Given the description of an element on the screen output the (x, y) to click on. 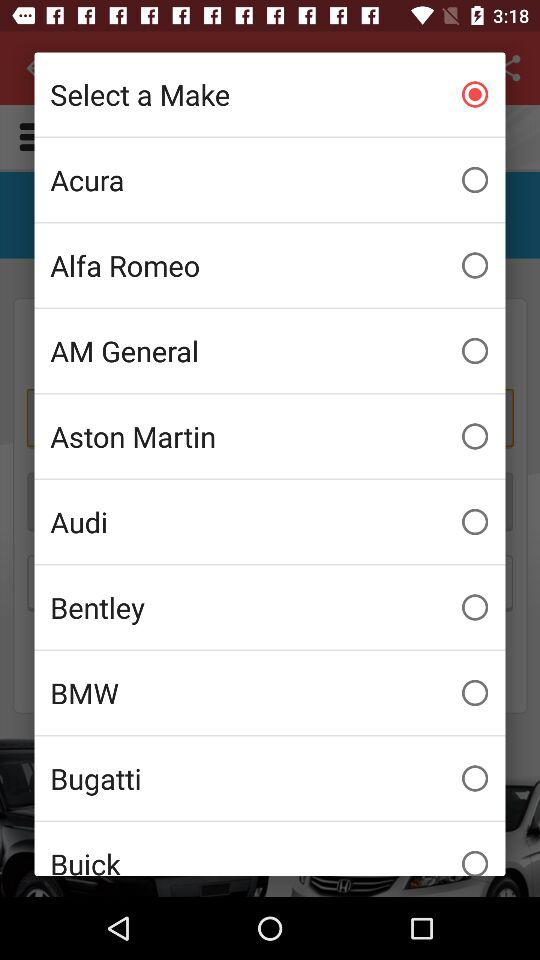
select the bmw icon (269, 693)
